Given the description of an element on the screen output the (x, y) to click on. 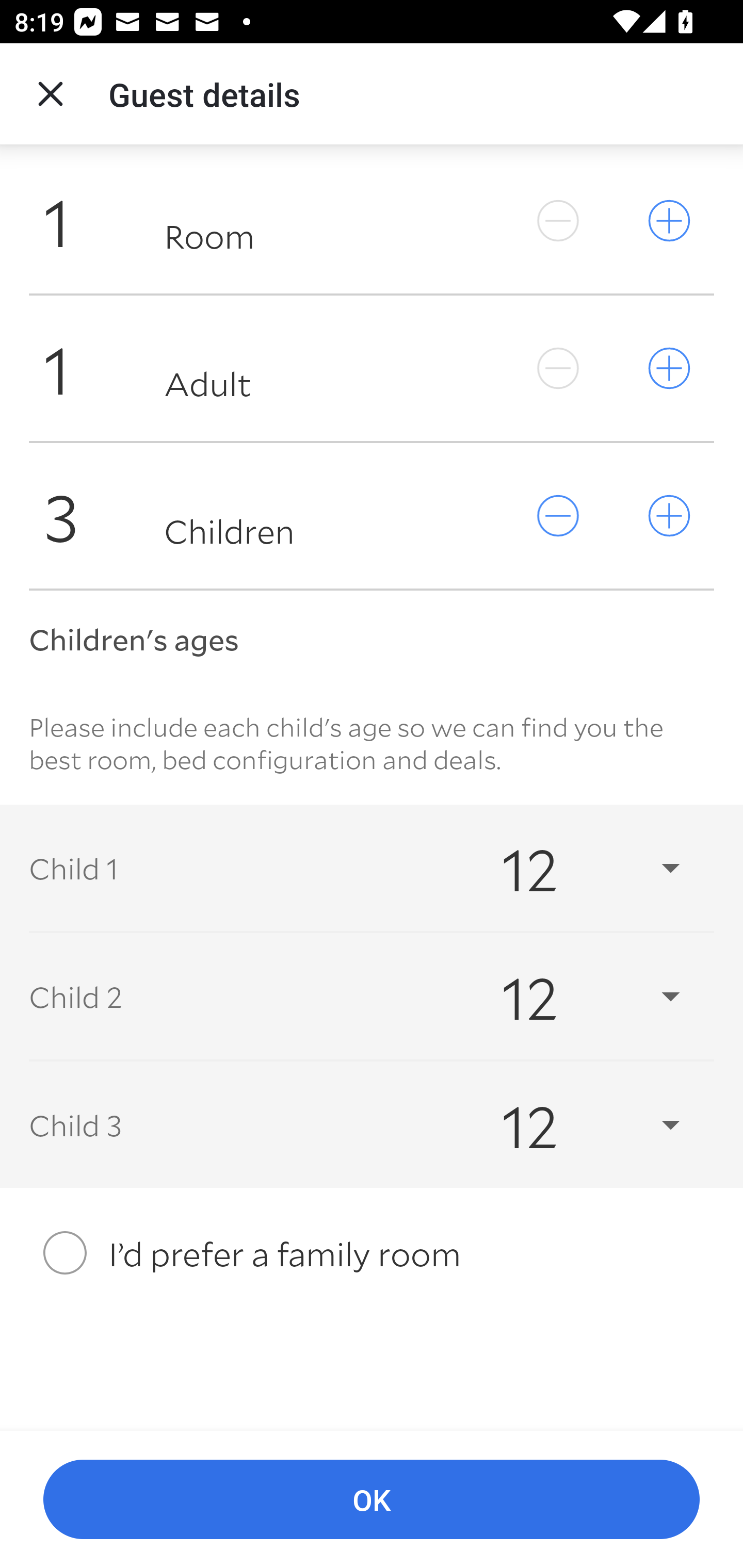
12 (573, 867)
12 (573, 996)
12 (573, 1125)
I’d prefer a family room (371, 1252)
OK (371, 1499)
